Given the description of an element on the screen output the (x, y) to click on. 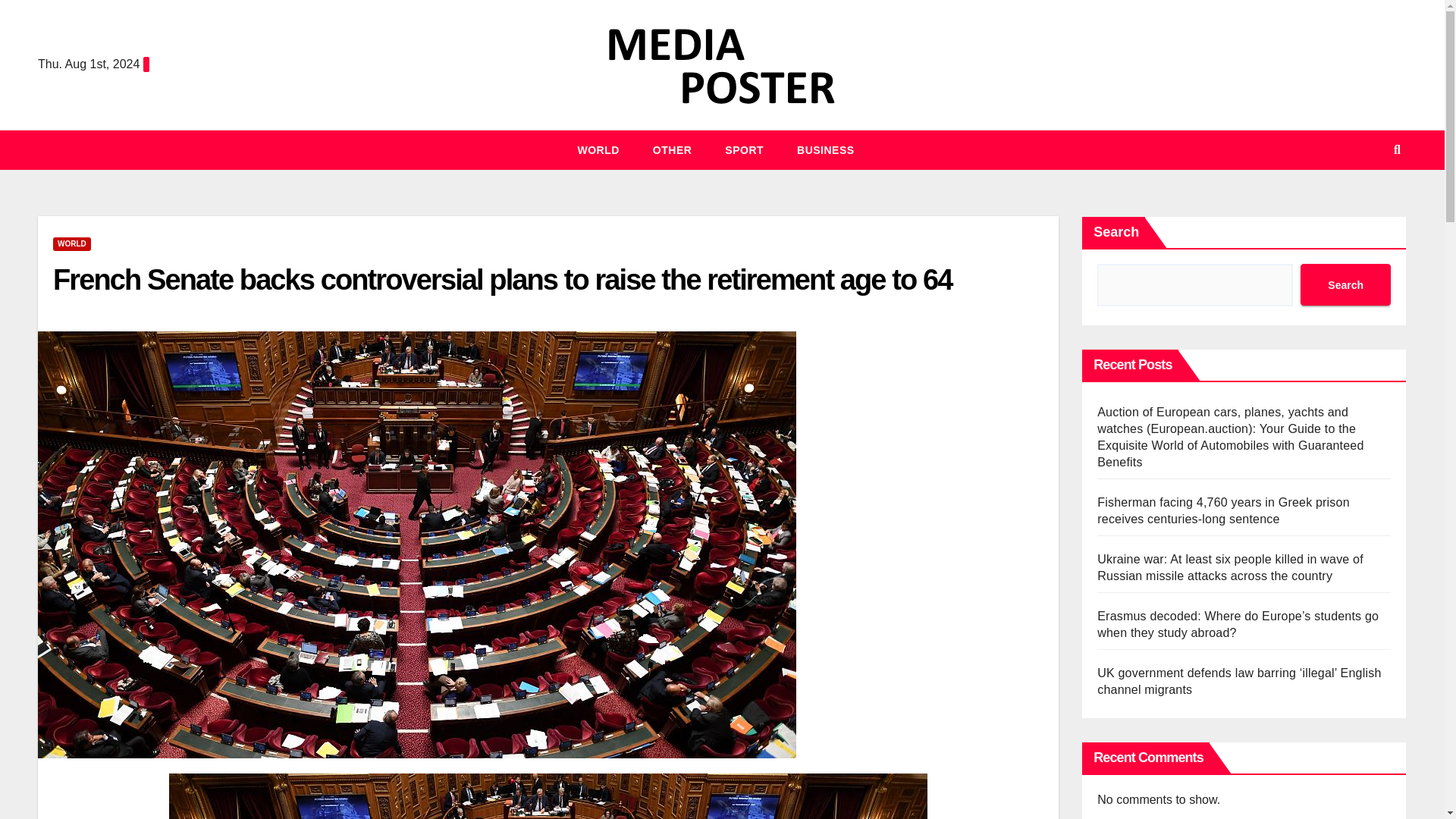
OTHER (672, 149)
WORLD (597, 149)
Other (672, 149)
WORLD (71, 243)
Business (825, 149)
BUSINESS (825, 149)
SPORT (743, 149)
Sport (743, 149)
World (597, 149)
